Given the description of an element on the screen output the (x, y) to click on. 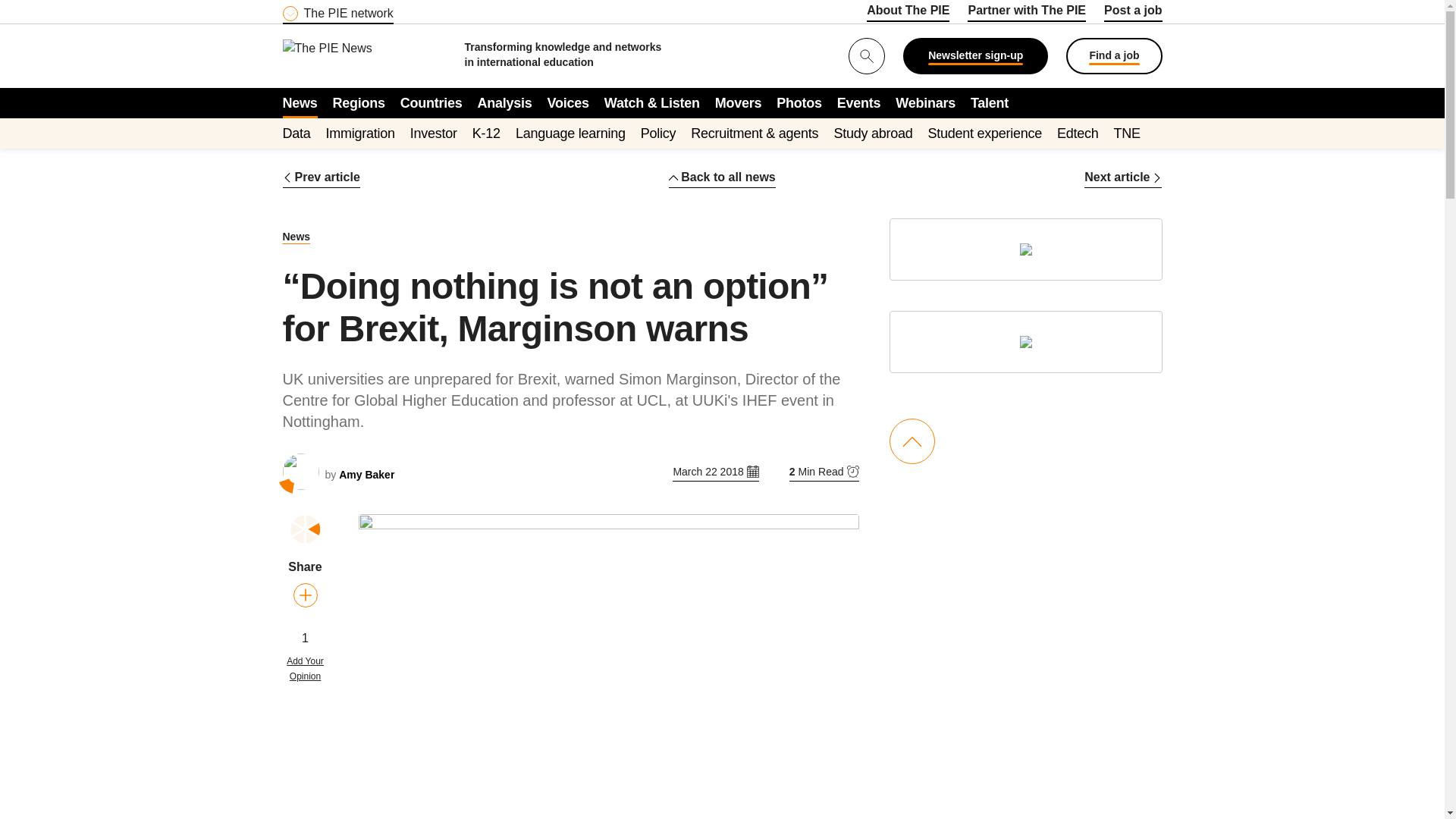
News (299, 102)
Newsletter sign-up (975, 55)
Find a job (1113, 55)
About The PIE (907, 13)
Post a job (1132, 13)
Partner with The PIE (1027, 13)
Countries (431, 102)
Content (373, 9)
Regions (359, 102)
